Given the description of an element on the screen output the (x, y) to click on. 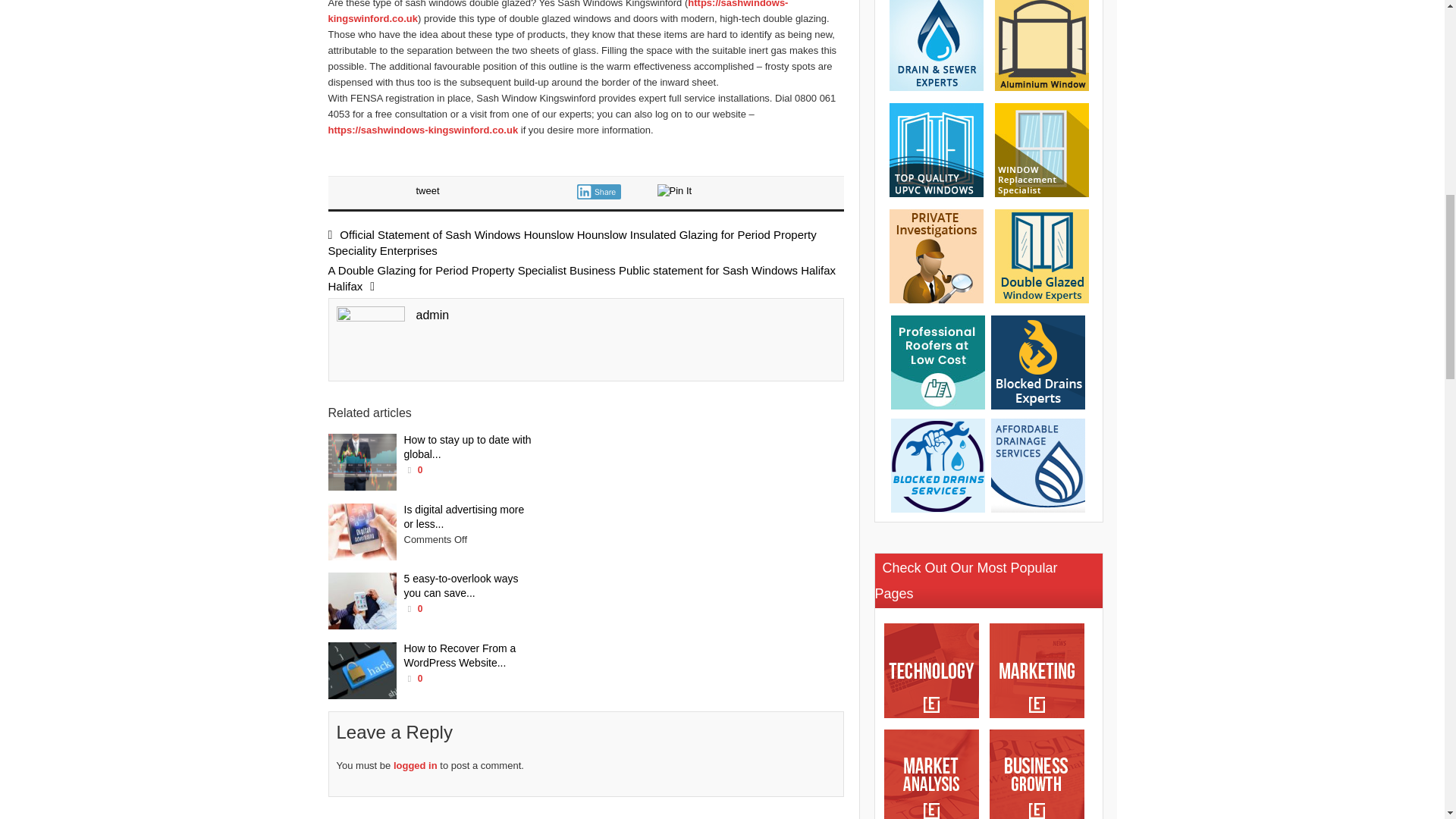
How to stay up to date with global trade news (361, 462)
How to Recover From a WordPress Website Attack (361, 670)
Pin It (673, 191)
